Given the description of an element on the screen output the (x, y) to click on. 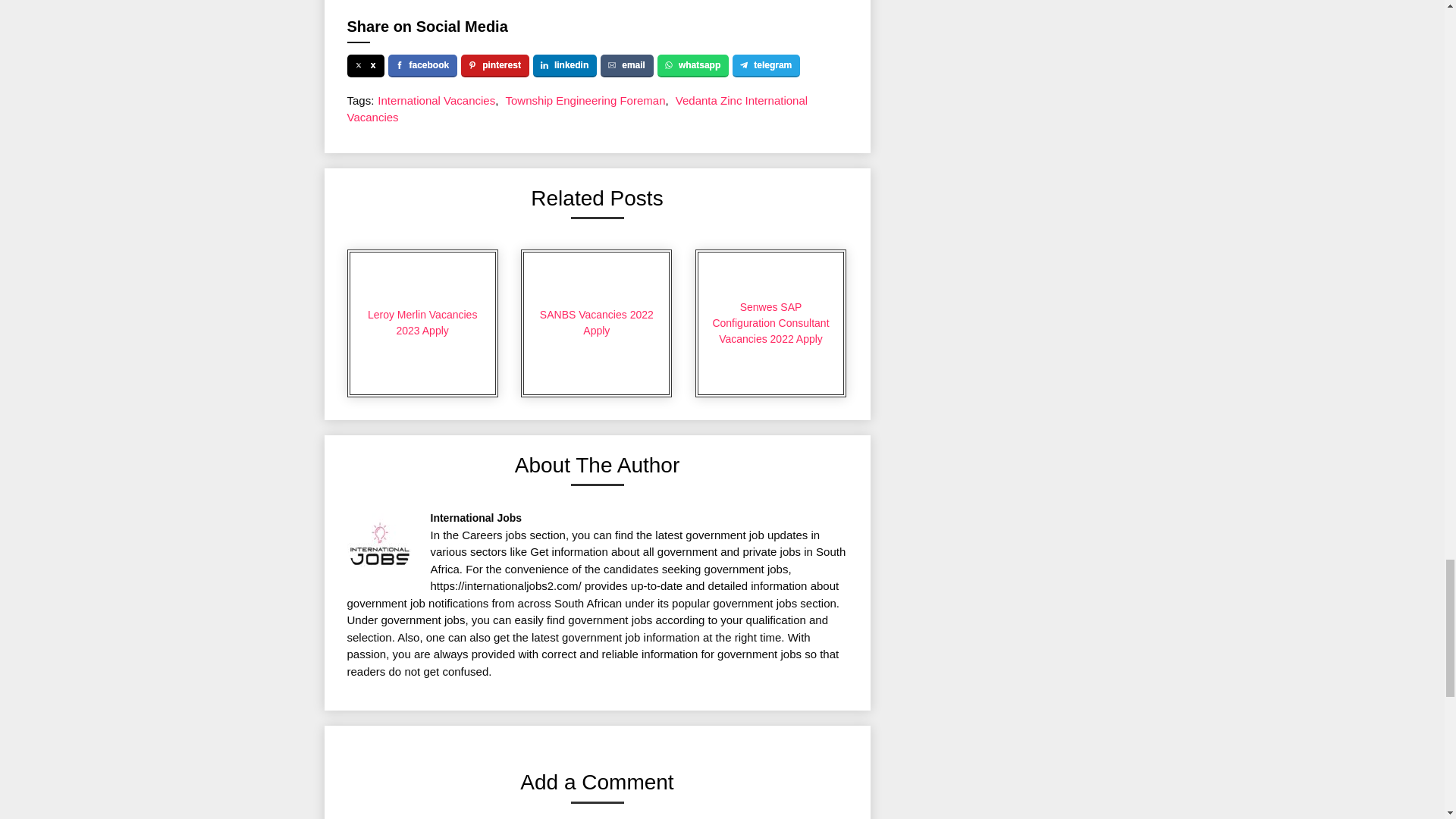
x (365, 65)
pinterest (495, 65)
linkedin (564, 65)
International Vacancies (436, 100)
Township Engineering Foreman (585, 100)
SANBS Vacancies 2022 Apply (596, 323)
email (626, 65)
Leroy Merlin Vacancies 2023 Apply (422, 323)
SANBS Vacancies 2022 Apply (596, 323)
Leroy Merlin Vacancies 2023 Apply (422, 323)
